Given the description of an element on the screen output the (x, y) to click on. 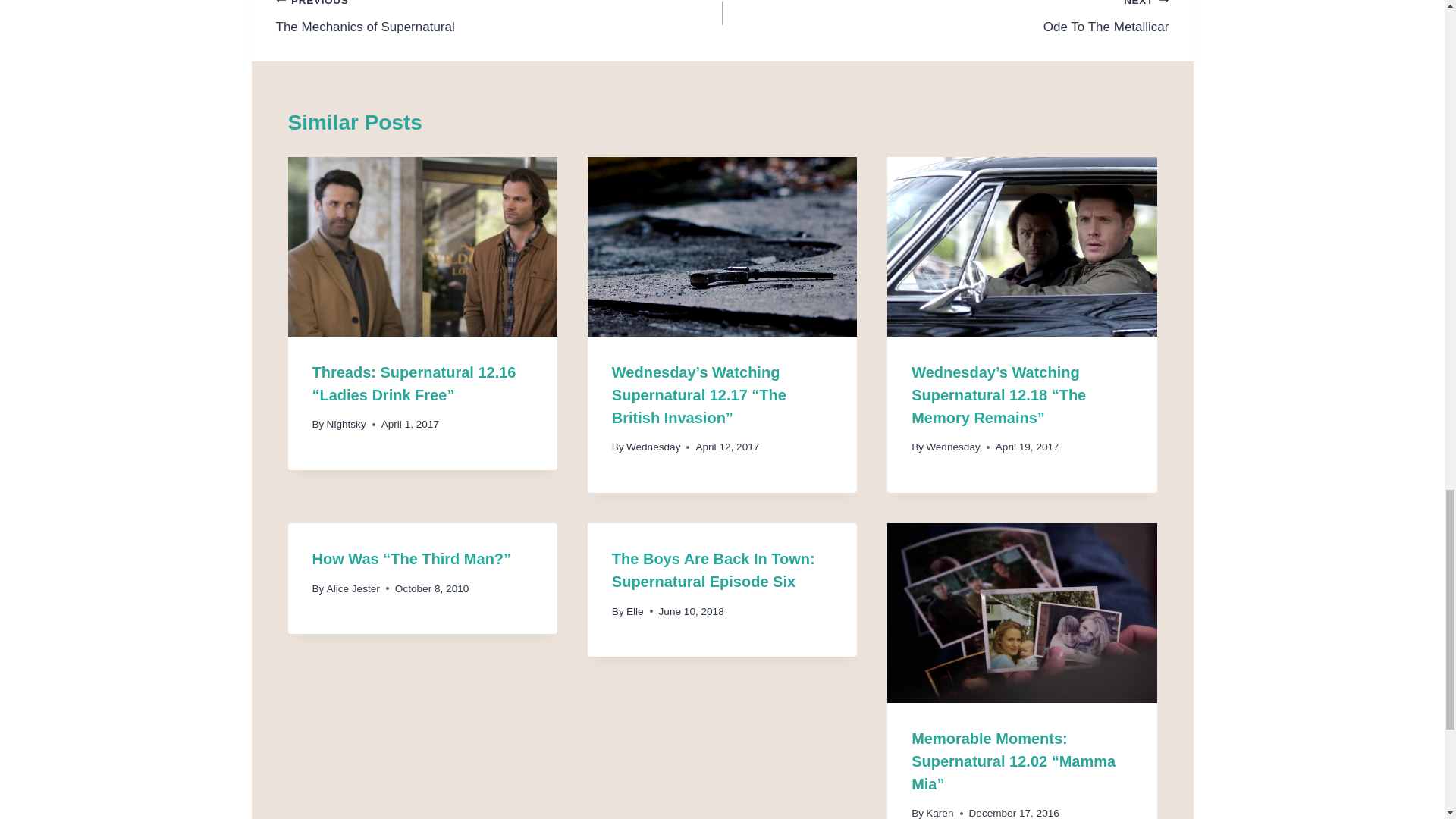
Nightsky (499, 18)
